Given the description of an element on the screen output the (x, y) to click on. 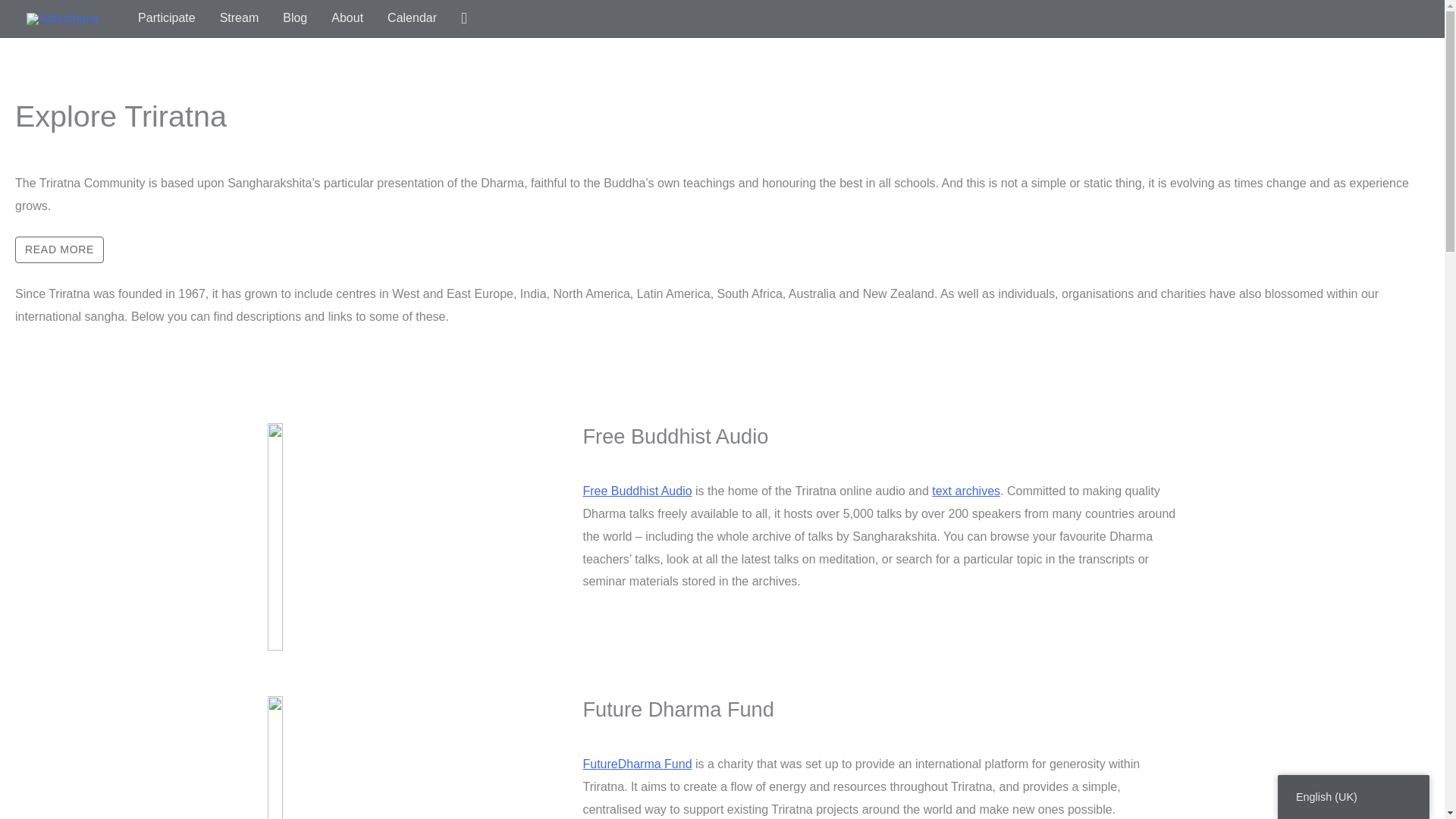
Calendar (411, 18)
READ MORE (58, 249)
About (346, 18)
Free Buddhist Audio (636, 490)
text archives (965, 490)
Blog (294, 18)
Participate (166, 18)
Stream (239, 18)
FutureDharma Fund (636, 763)
